Given the description of an element on the screen output the (x, y) to click on. 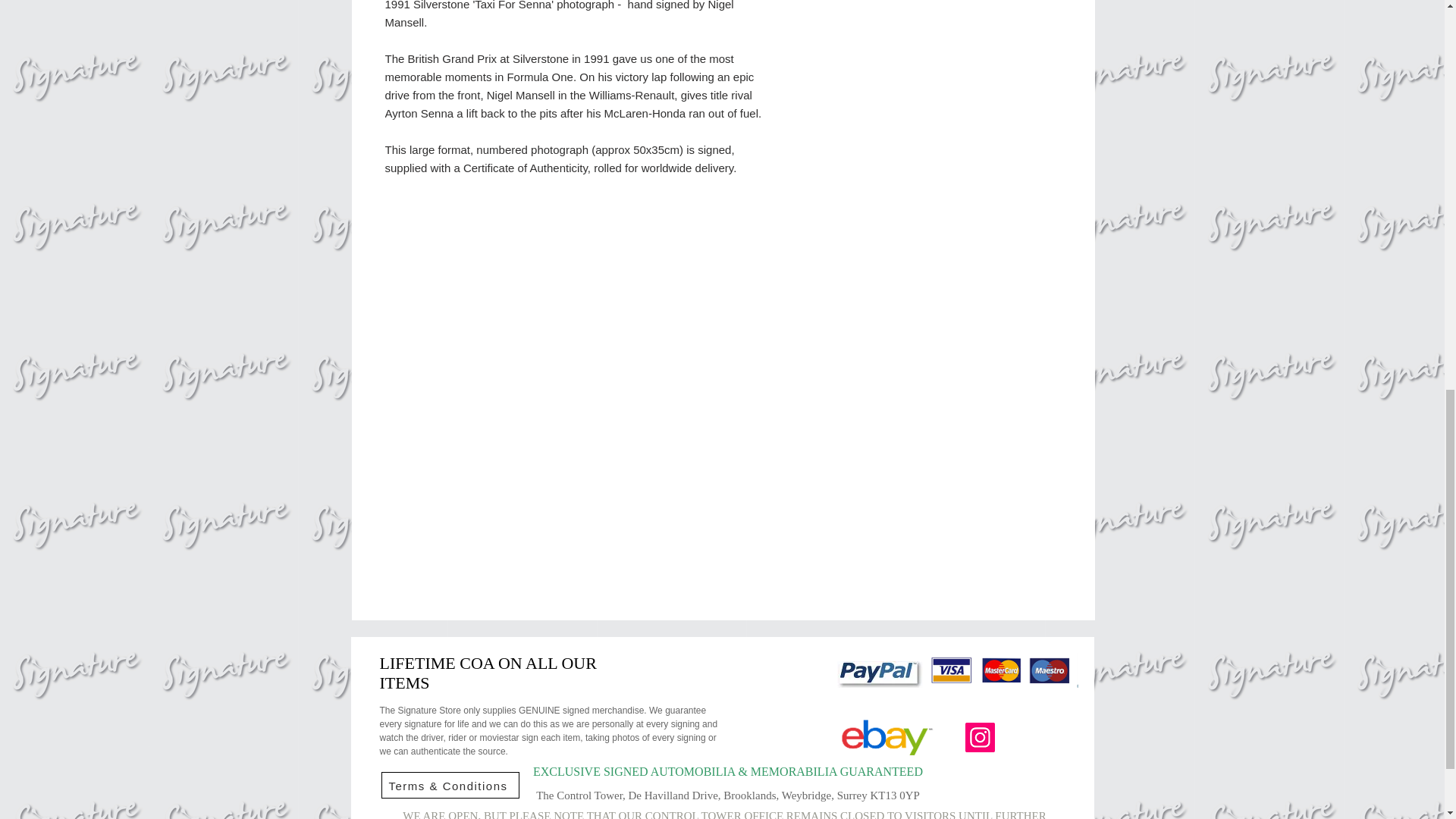
Twitter Follow (1040, 736)
